Given the description of an element on the screen output the (x, y) to click on. 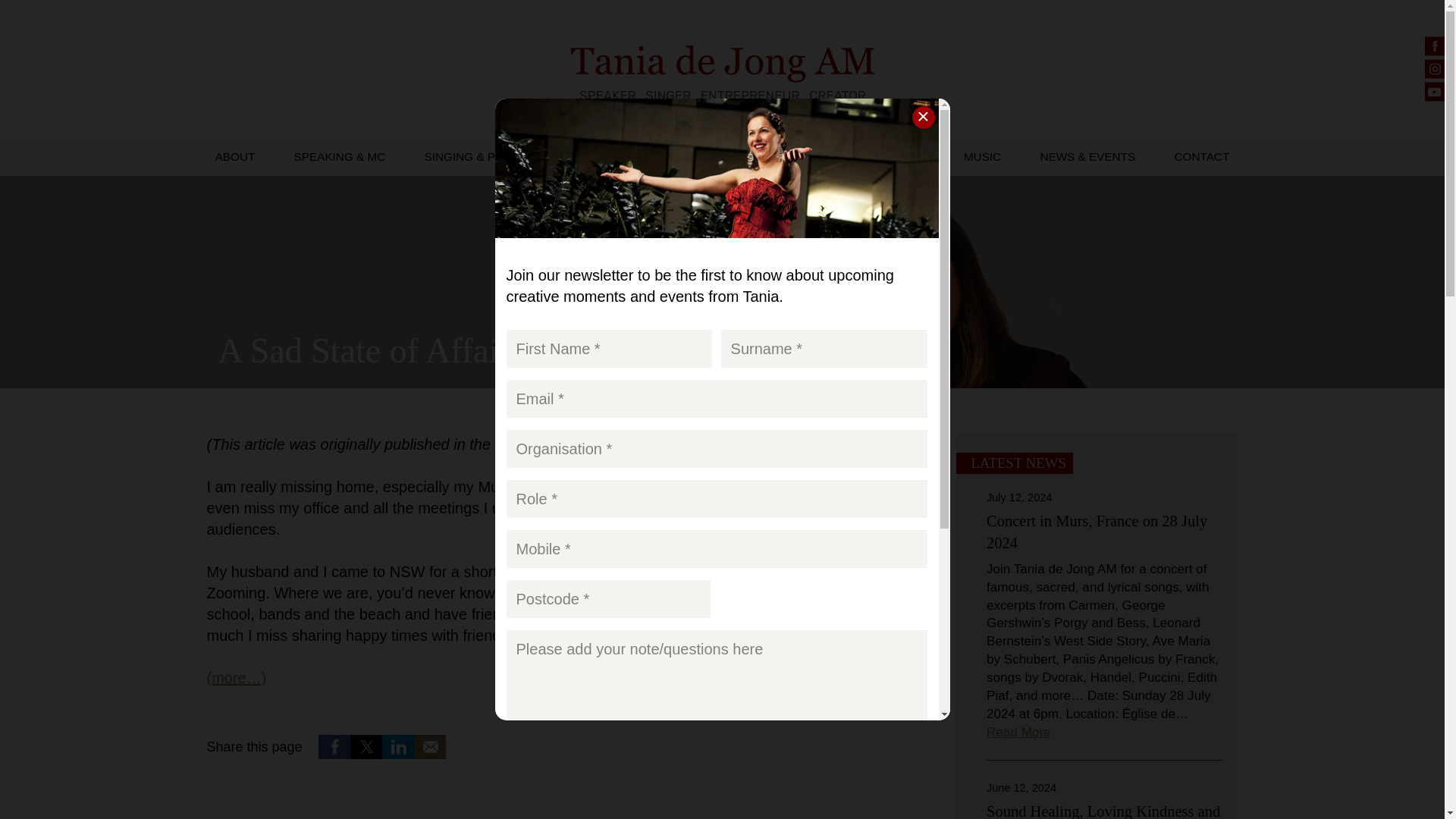
1 (511, 756)
CLIENTS (825, 157)
Share this on LinkedIn (397, 746)
MEDIA (906, 157)
MUSIC (982, 157)
Share this via email (429, 746)
Share this on X (365, 746)
Share this on Facebook (334, 746)
ABOUT (234, 157)
